Given the description of an element on the screen output the (x, y) to click on. 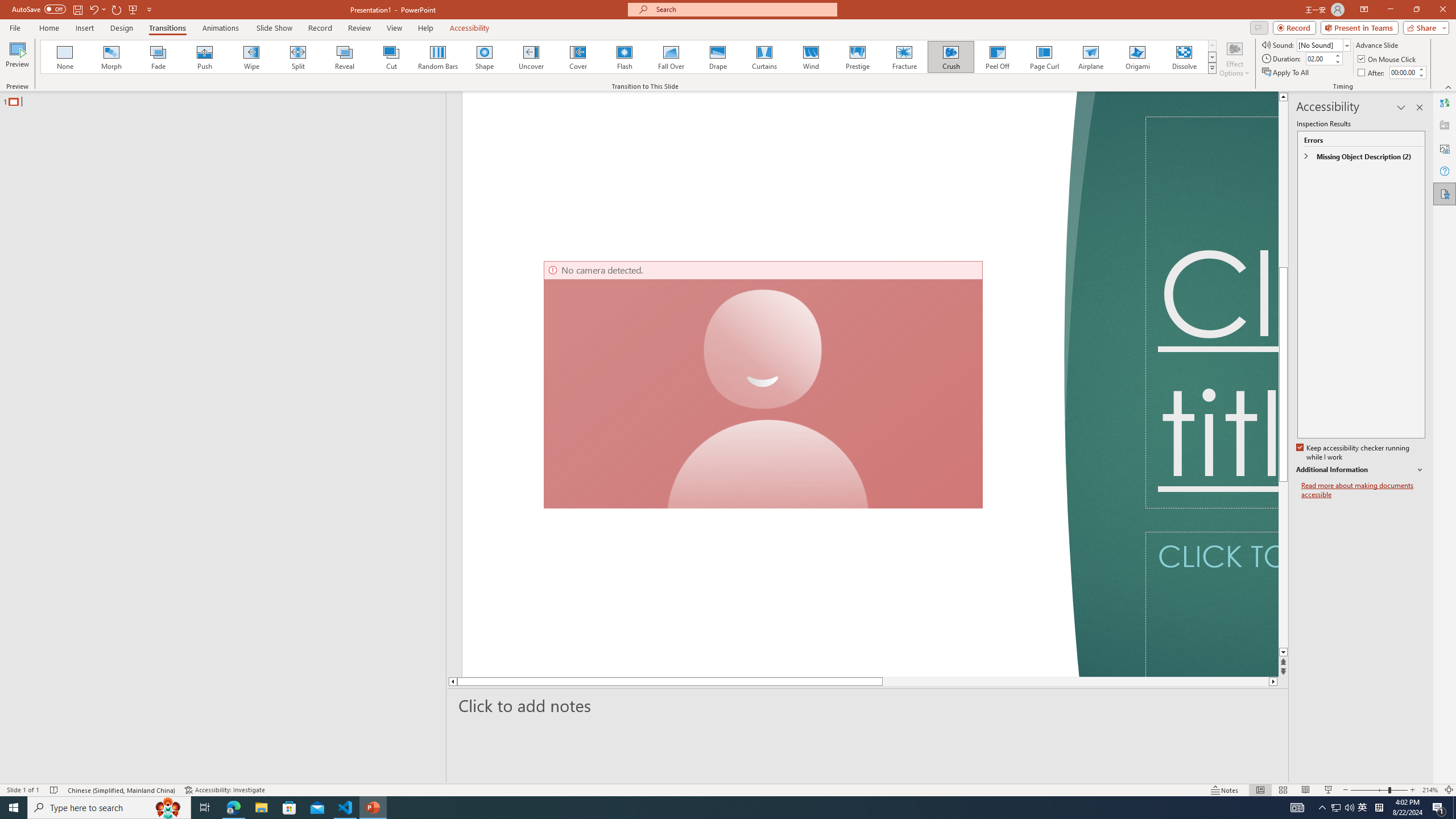
Transition Effects (1212, 67)
Camera 7, No camera detected. (762, 384)
Peel Off (997, 56)
